Given the description of an element on the screen output the (x, y) to click on. 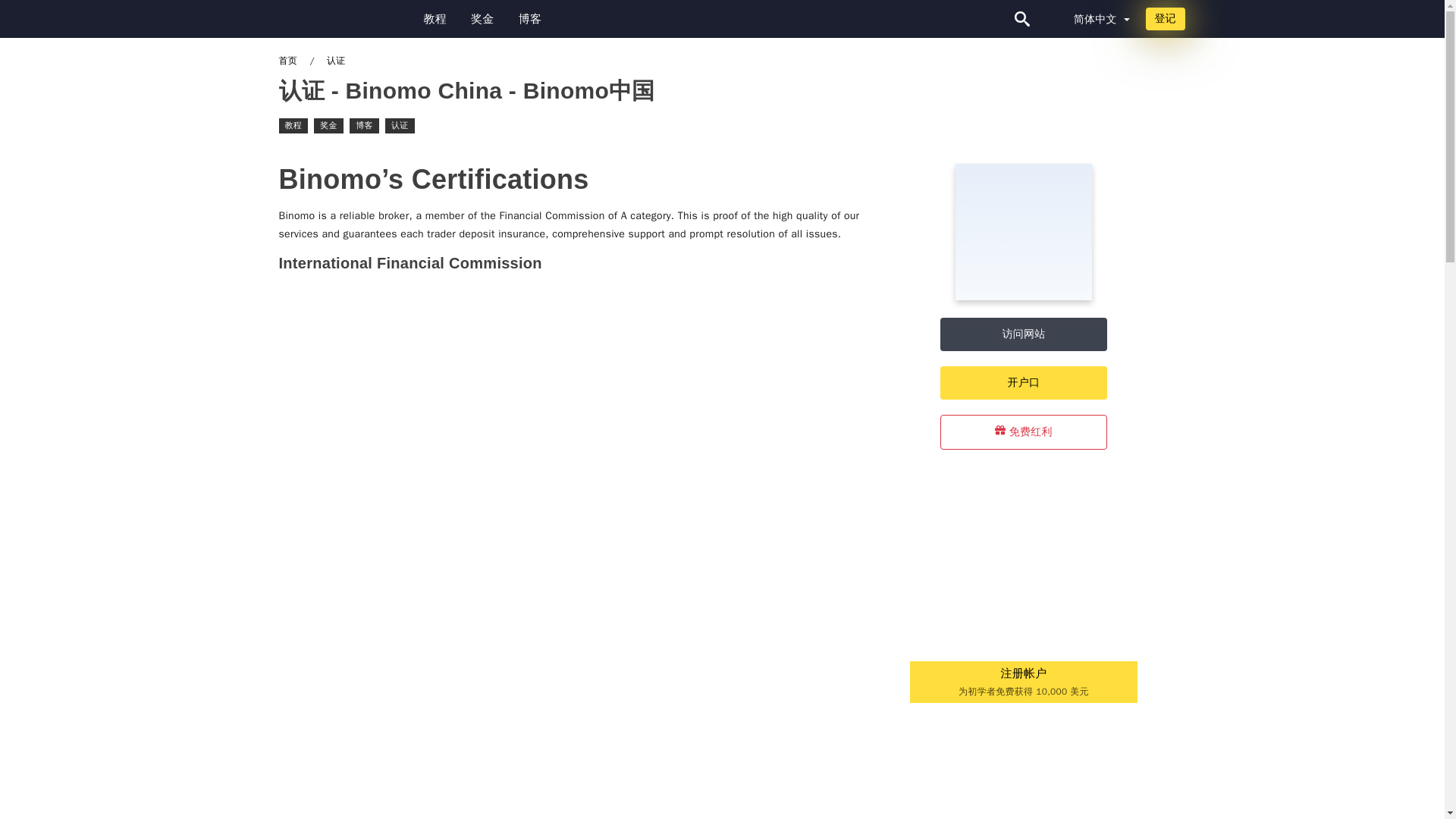
search (1317, 18)
Binomo Club (88, 18)
binomoclub.com (84, 18)
